Given the description of an element on the screen output the (x, y) to click on. 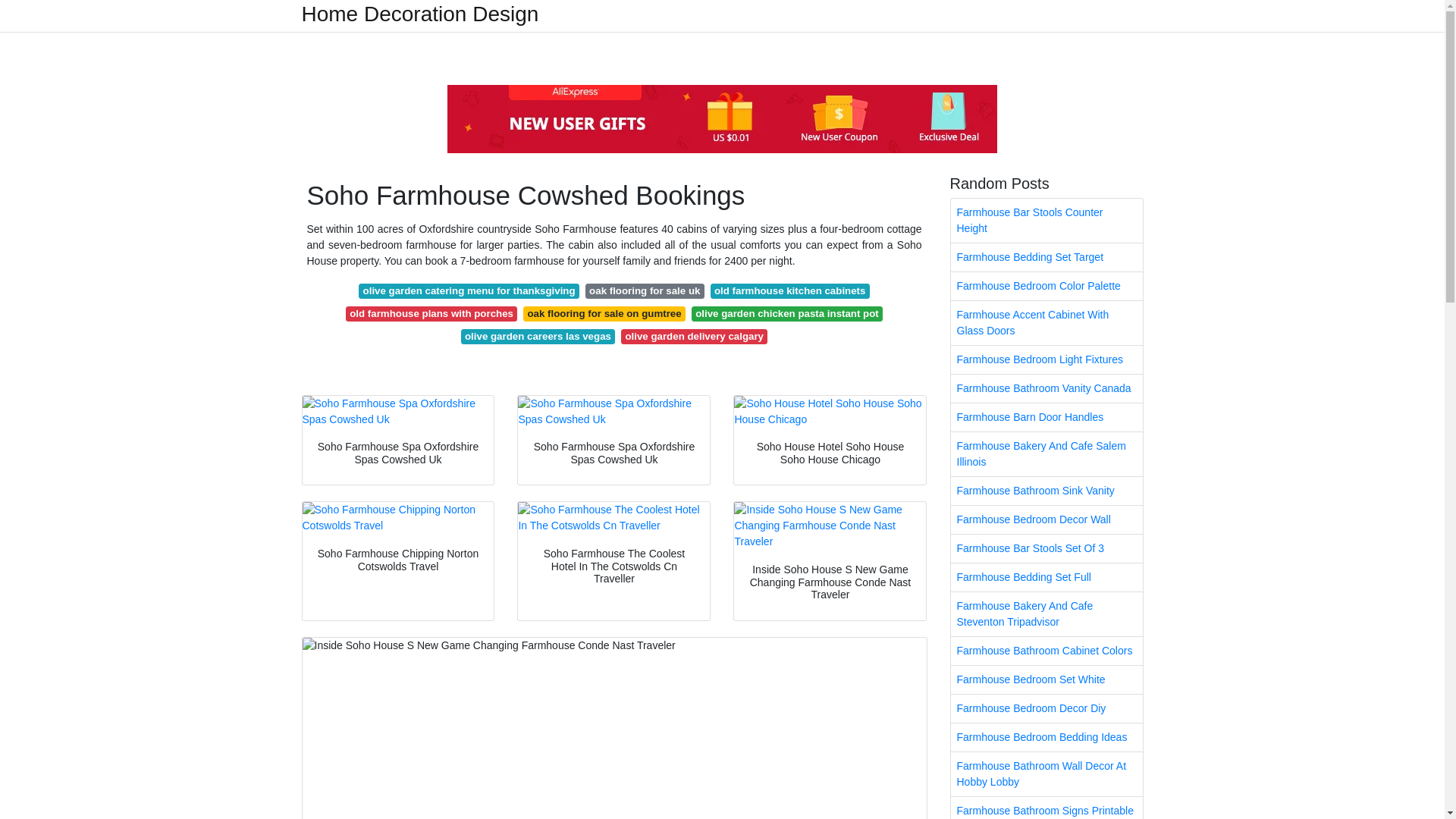
old farmhouse kitchen cabinets (789, 290)
olive garden careers las vegas (538, 336)
Farmhouse Bedding Set Target (1046, 257)
Farmhouse Barn Door Handles (1046, 417)
olive garden delivery calgary (694, 336)
Farmhouse Bathroom Sink Vanity (1046, 490)
Farmhouse Bakery And Cafe Salem Illinois (1046, 453)
Farmhouse Bathroom Vanity Canada (1046, 388)
olive garden chicken pasta instant pot (786, 313)
Home Decoration Design (419, 13)
